Given the description of an element on the screen output the (x, y) to click on. 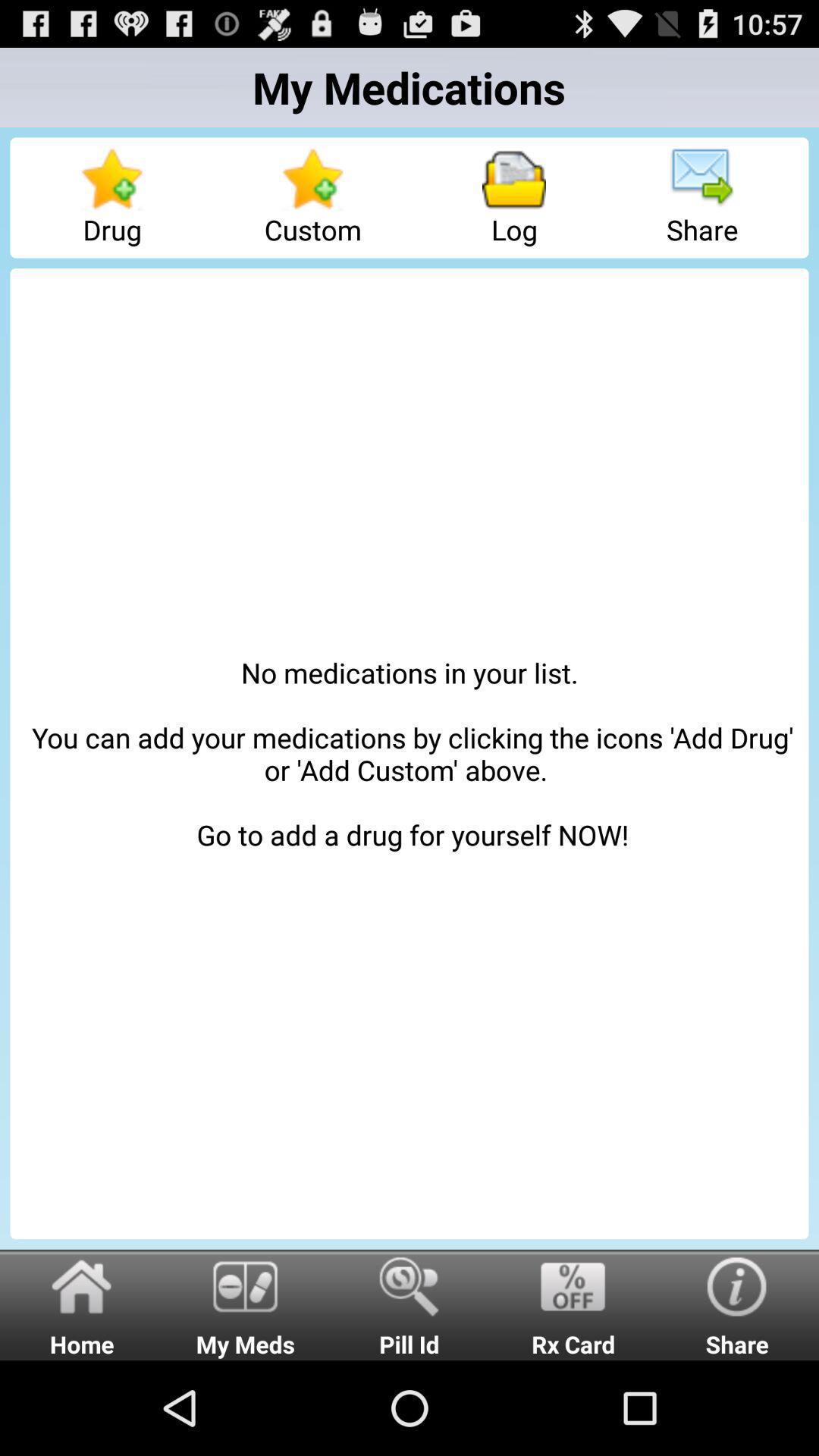
launch icon to the left of the rx card (409, 1304)
